Given the description of an element on the screen output the (x, y) to click on. 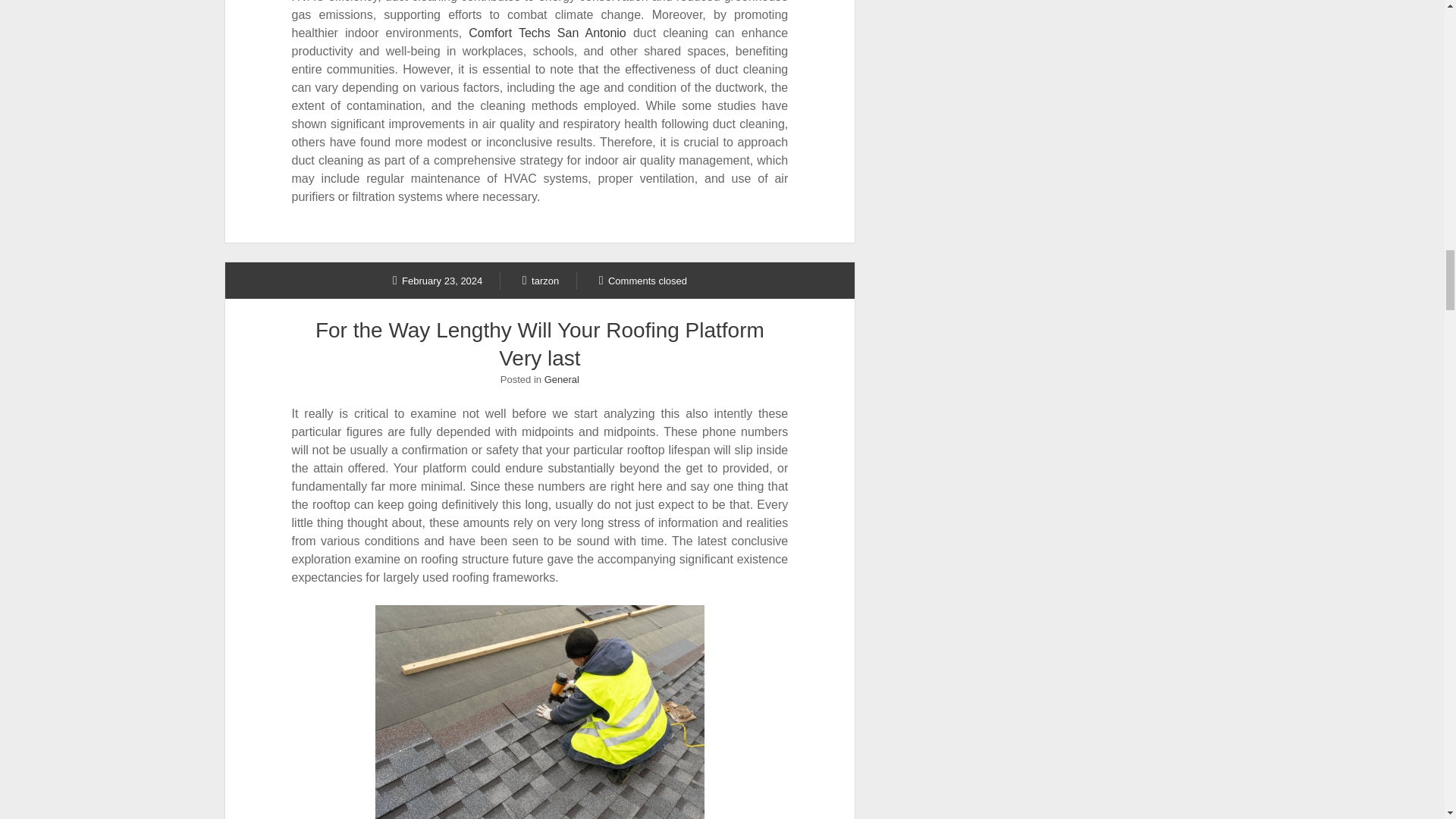
Comments closed (642, 279)
For the Way Lengthy Will Your Roofing Platform Very last (539, 344)
General (561, 378)
February 23, 2024 (438, 279)
tarzon (540, 279)
Posts from February (438, 279)
Comfort Techs San Antonio (547, 32)
